Given the description of an element on the screen output the (x, y) to click on. 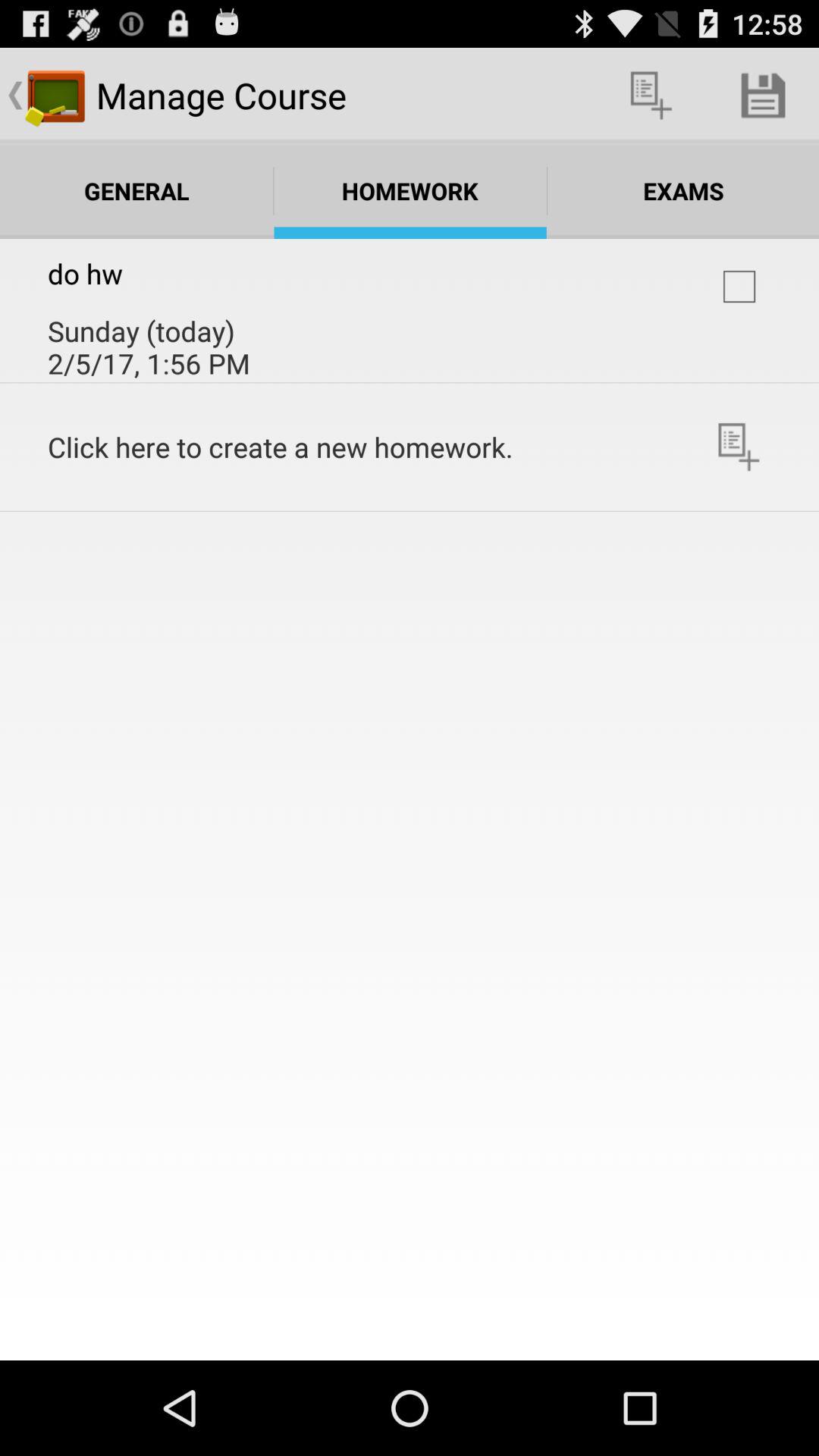
set to checked (739, 286)
